Given the description of an element on the screen output the (x, y) to click on. 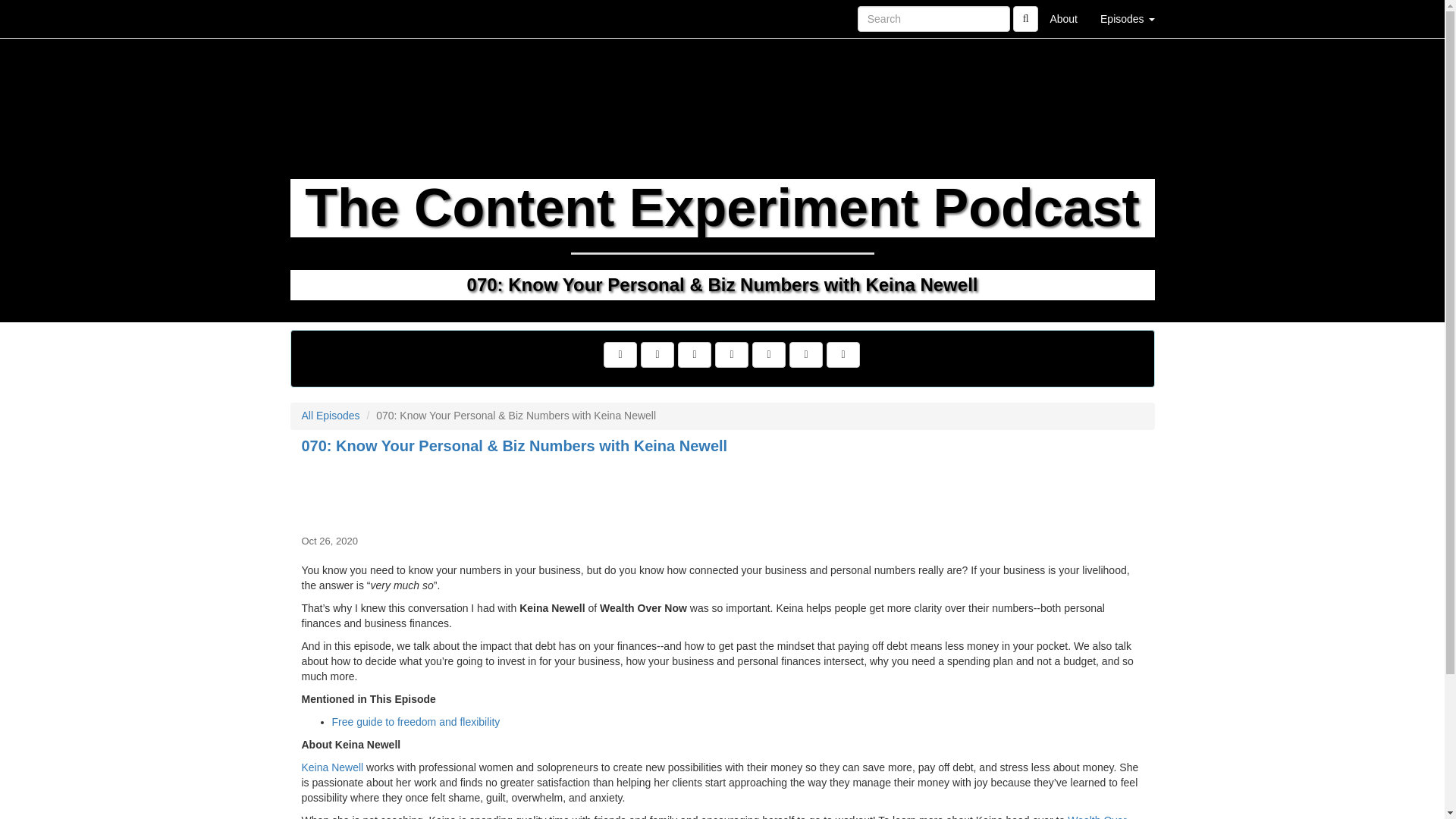
Episodes (1127, 18)
Home Page (320, 18)
About (1063, 18)
